Given the description of an element on the screen output the (x, y) to click on. 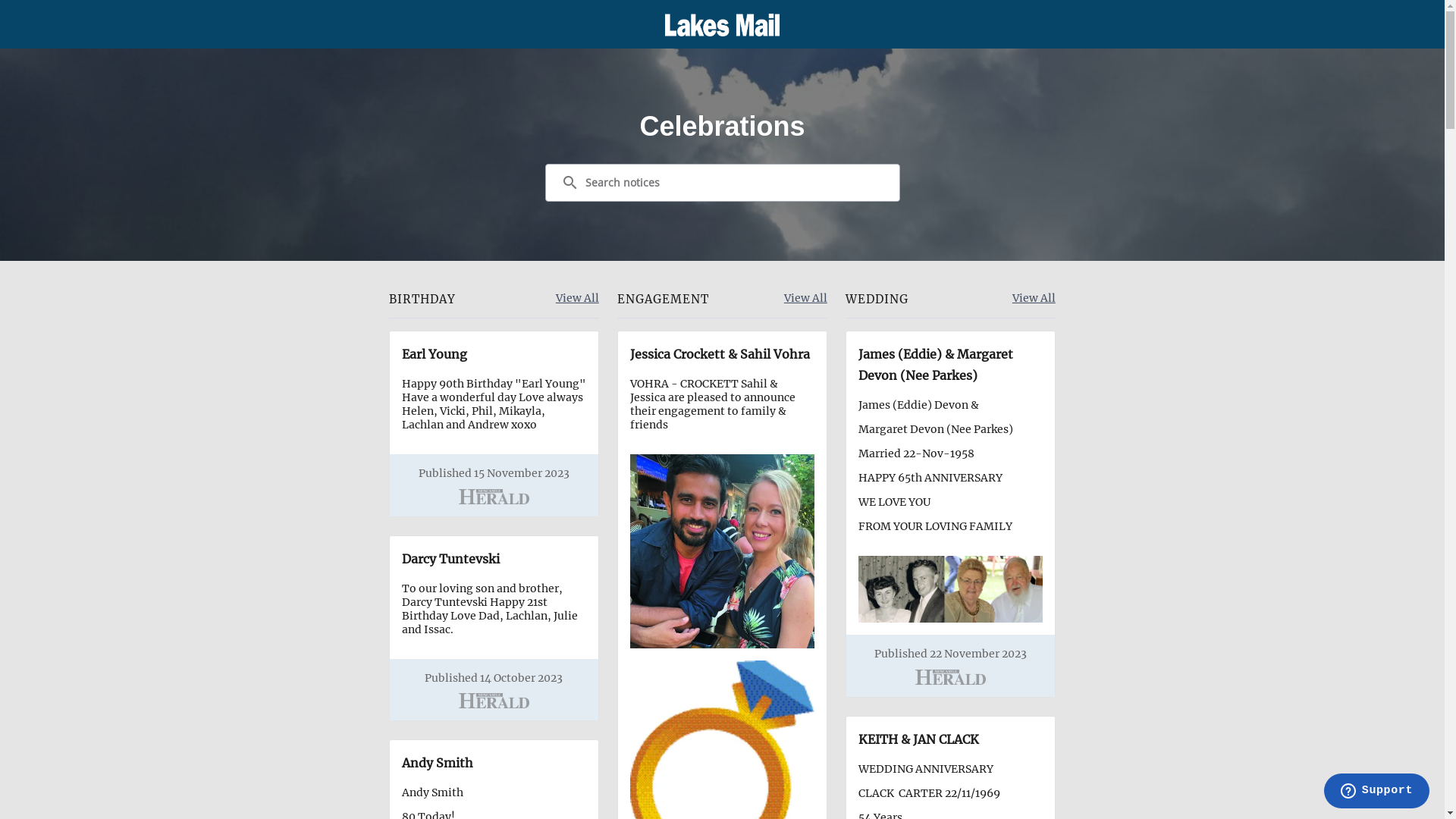
View All Element type: text (1033, 299)
Opens a widget where you can find more information Element type: hover (1376, 792)
View All Element type: text (577, 299)
View All Element type: text (805, 299)
